Given the description of an element on the screen output the (x, y) to click on. 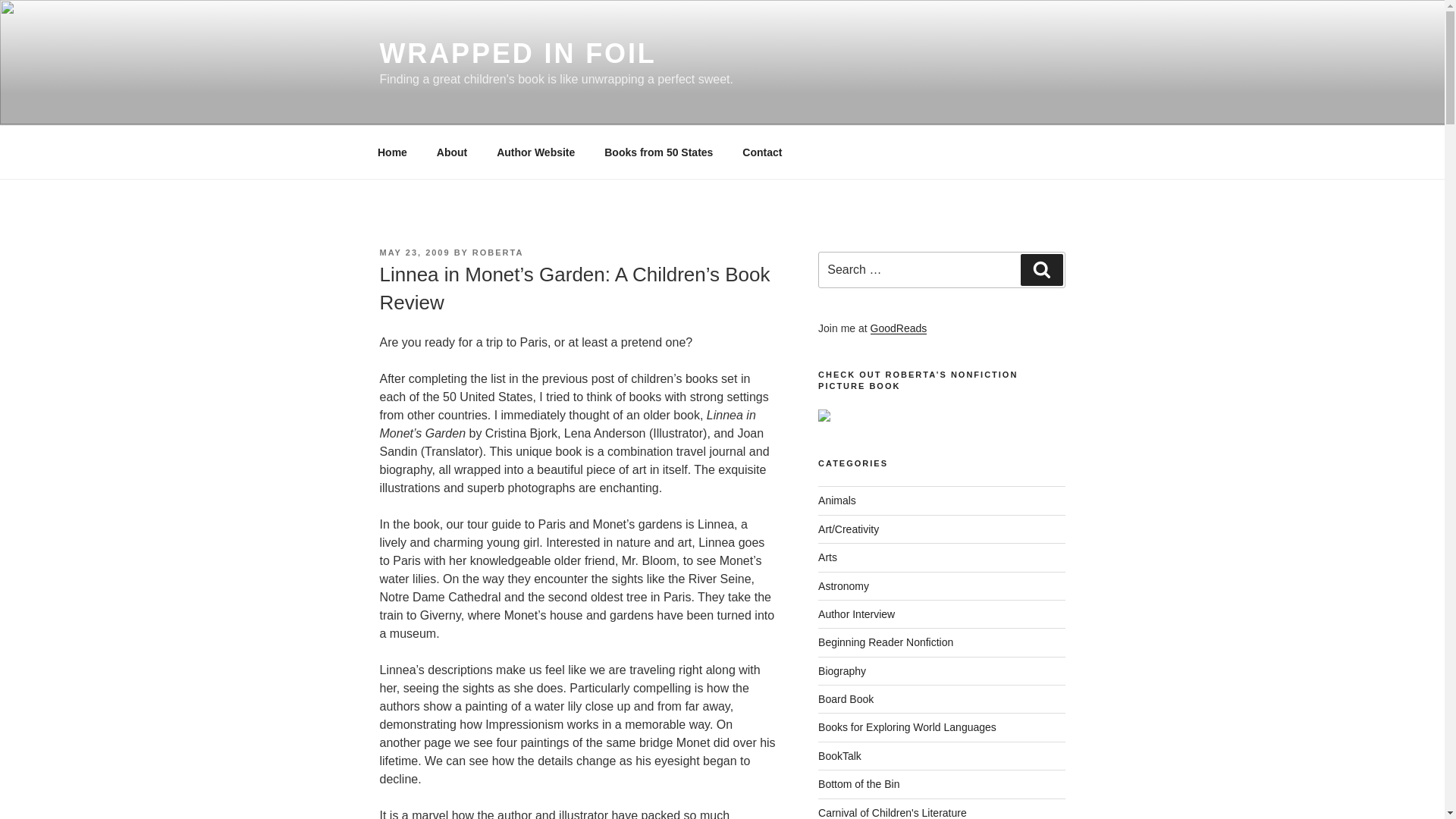
GoodReads (898, 328)
Search (1041, 269)
Beginning Reader Nonfiction (885, 642)
Arts (827, 557)
Books from 50 States (658, 151)
Animals (837, 500)
About (451, 151)
Biography (842, 671)
Board Book (845, 698)
Author Website (535, 151)
